Given the description of an element on the screen output the (x, y) to click on. 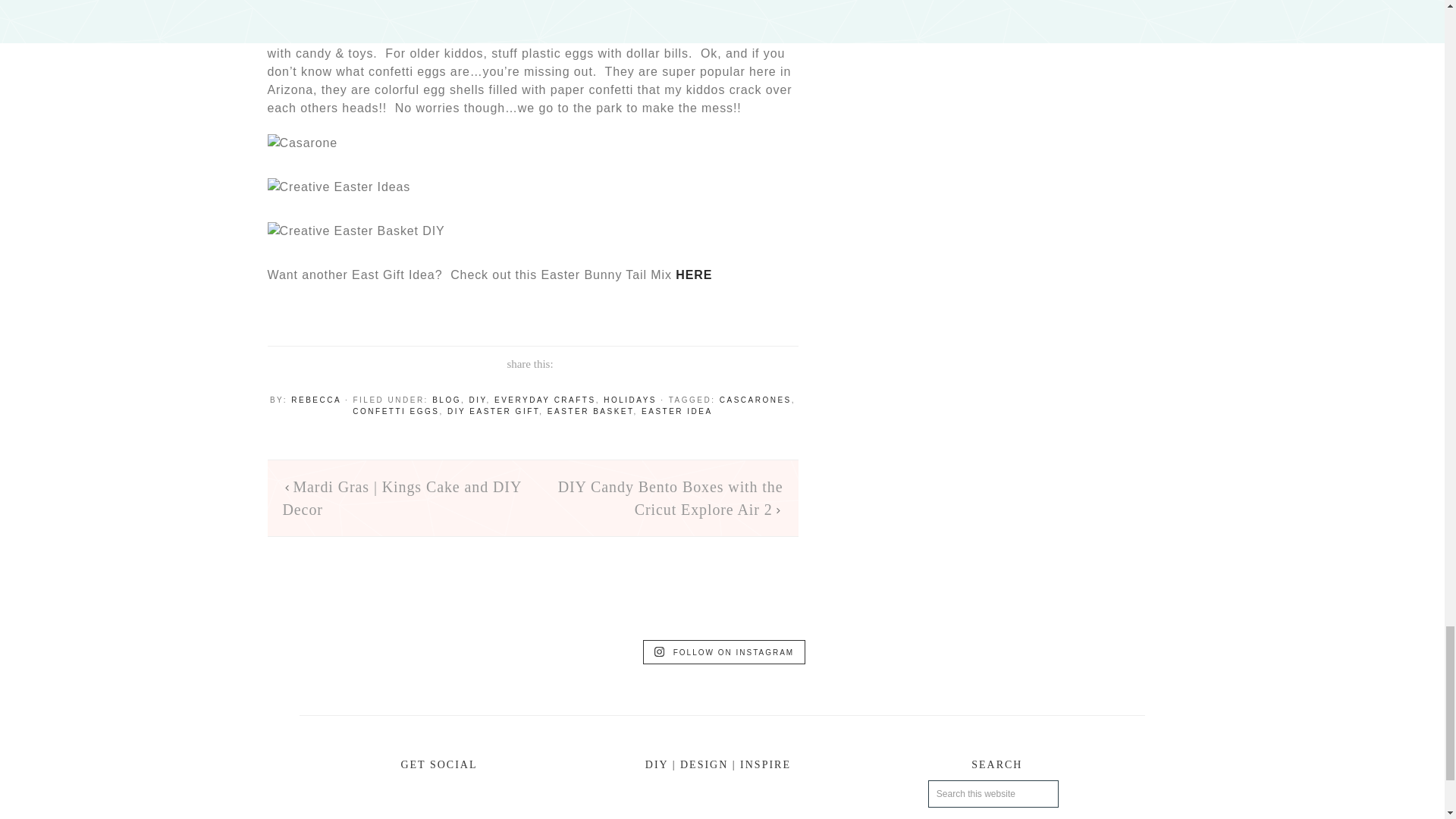
BLOG (446, 399)
CONFETTI EGGS (395, 411)
CASCARONES (755, 399)
DIY EASTER GIFT (492, 411)
REBECCA (315, 399)
HERE (693, 274)
EASTER IDEA (677, 411)
EASTER BASKET (590, 411)
